Given the description of an element on the screen output the (x, y) to click on. 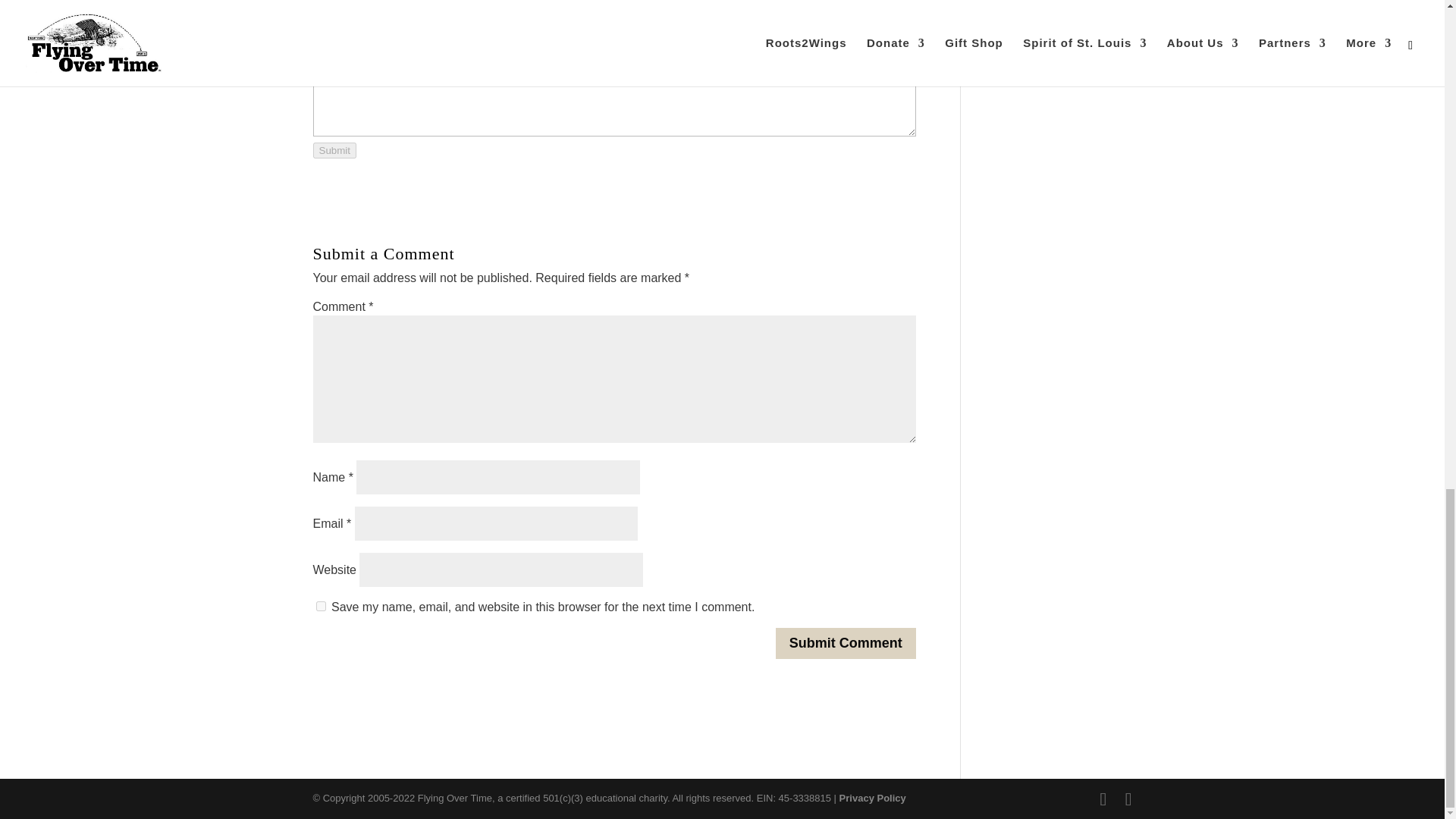
Submit Comment (845, 643)
yes (319, 605)
